Given the description of an element on the screen output the (x, y) to click on. 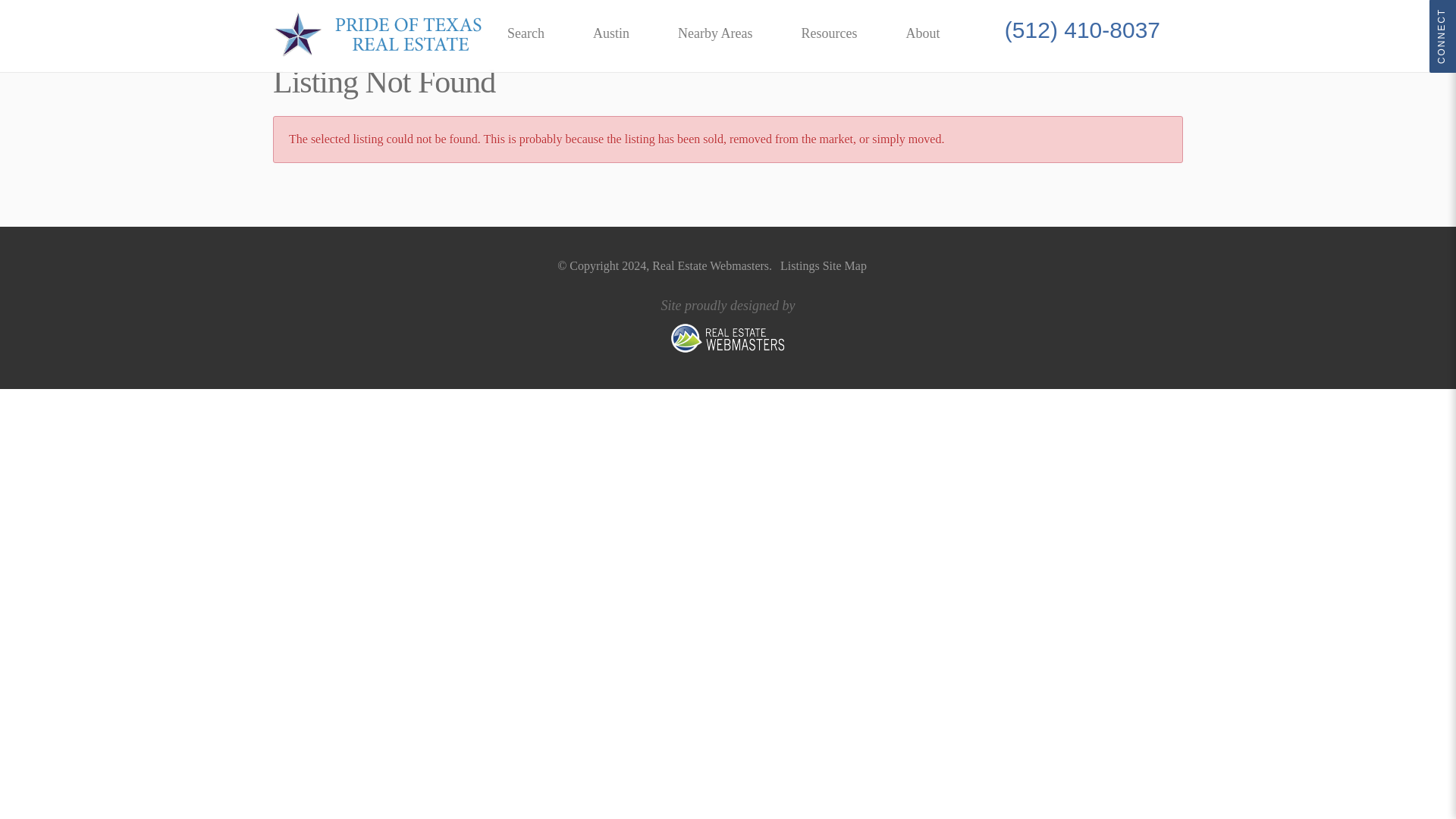
Austin (611, 33)
Nearby Areas (714, 33)
Search (525, 33)
Resources (828, 33)
